Given the description of an element on the screen output the (x, y) to click on. 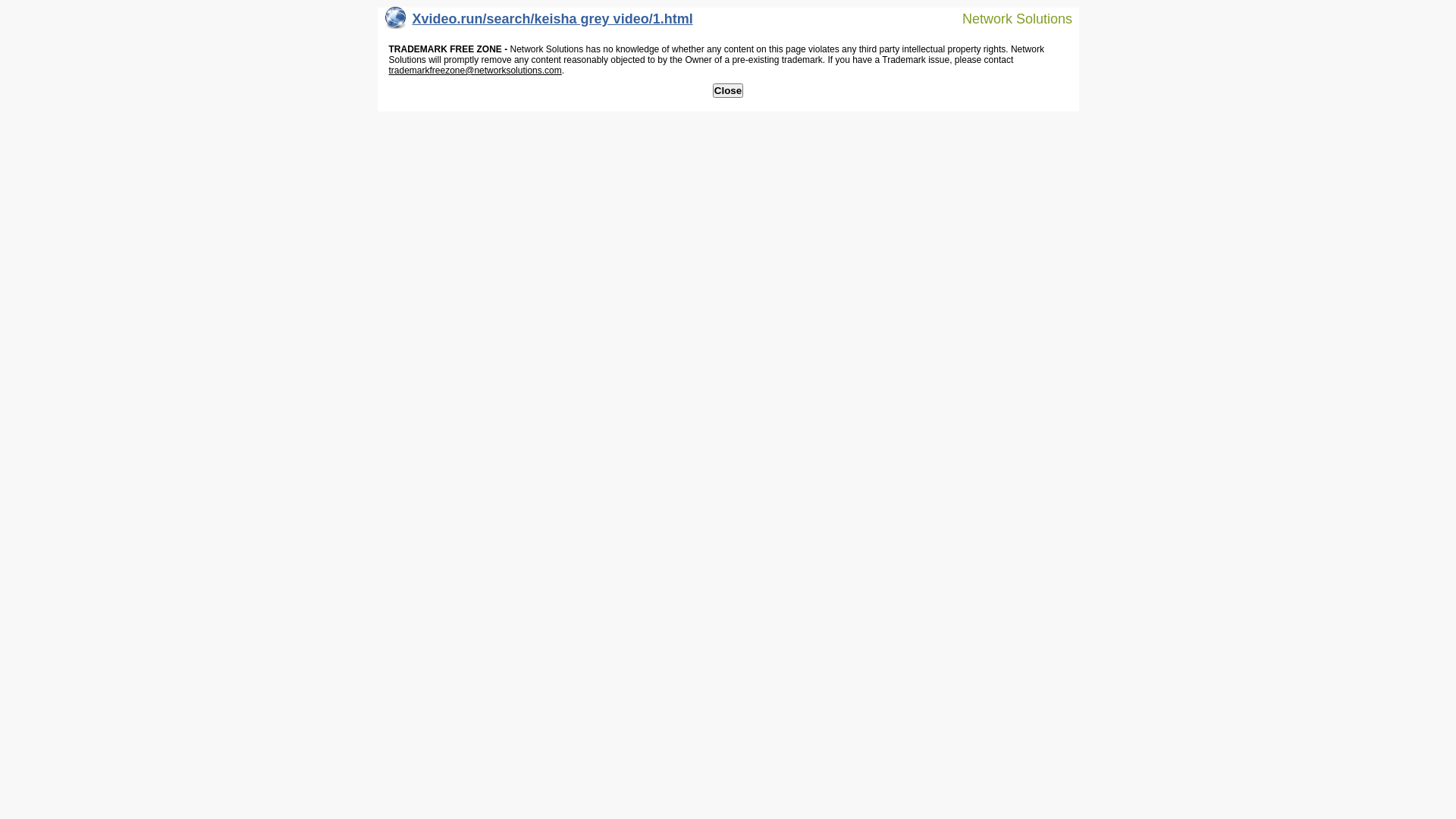
Close Element type: text (727, 90)
Network Solutions Element type: text (1007, 17)
Xvideo.run/search/keisha grey video/1.html Element type: text (539, 21)
trademarkfreezone@networksolutions.com Element type: text (474, 70)
